Given the description of an element on the screen output the (x, y) to click on. 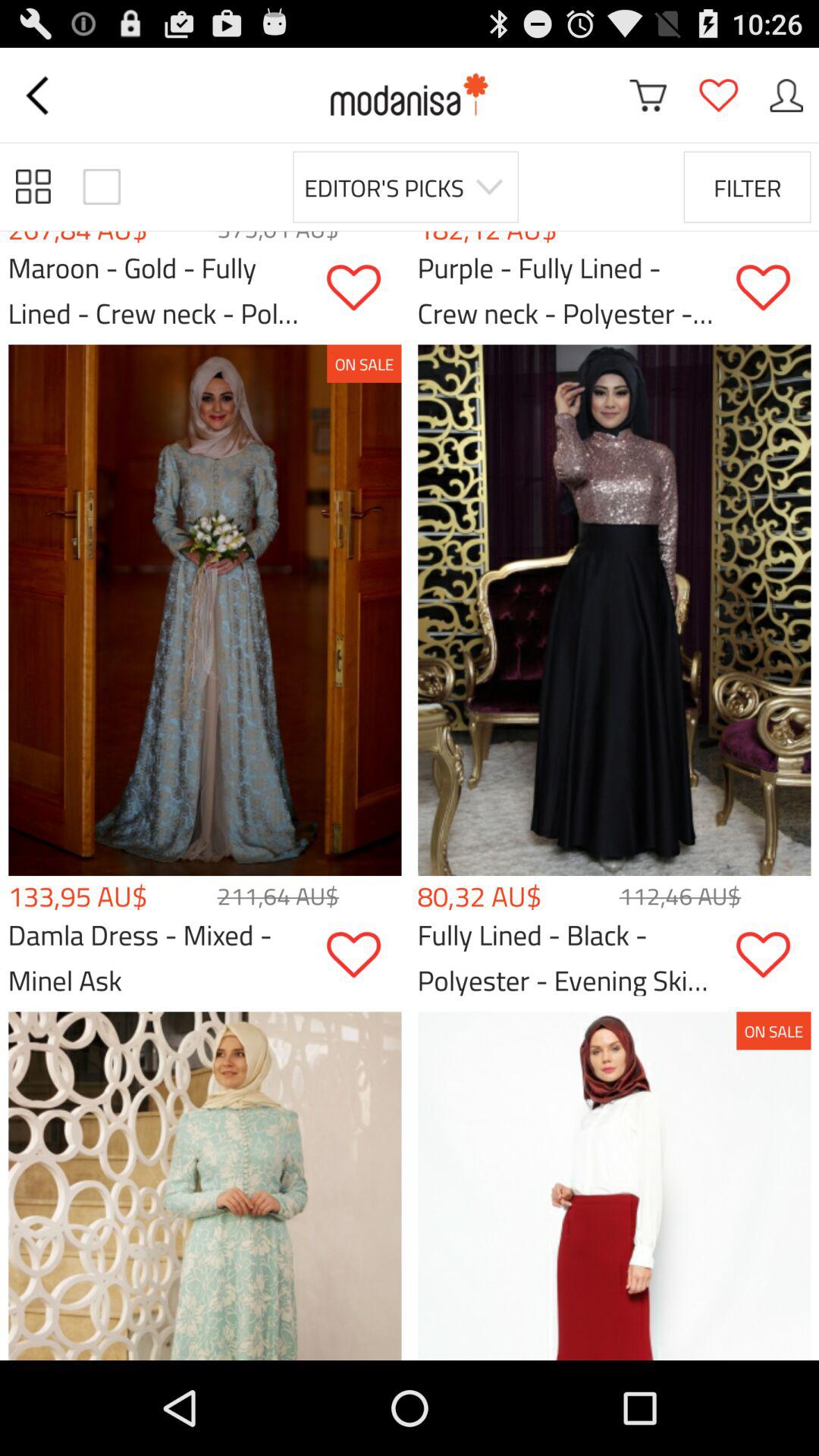
love button (363, 954)
